Given the description of an element on the screen output the (x, y) to click on. 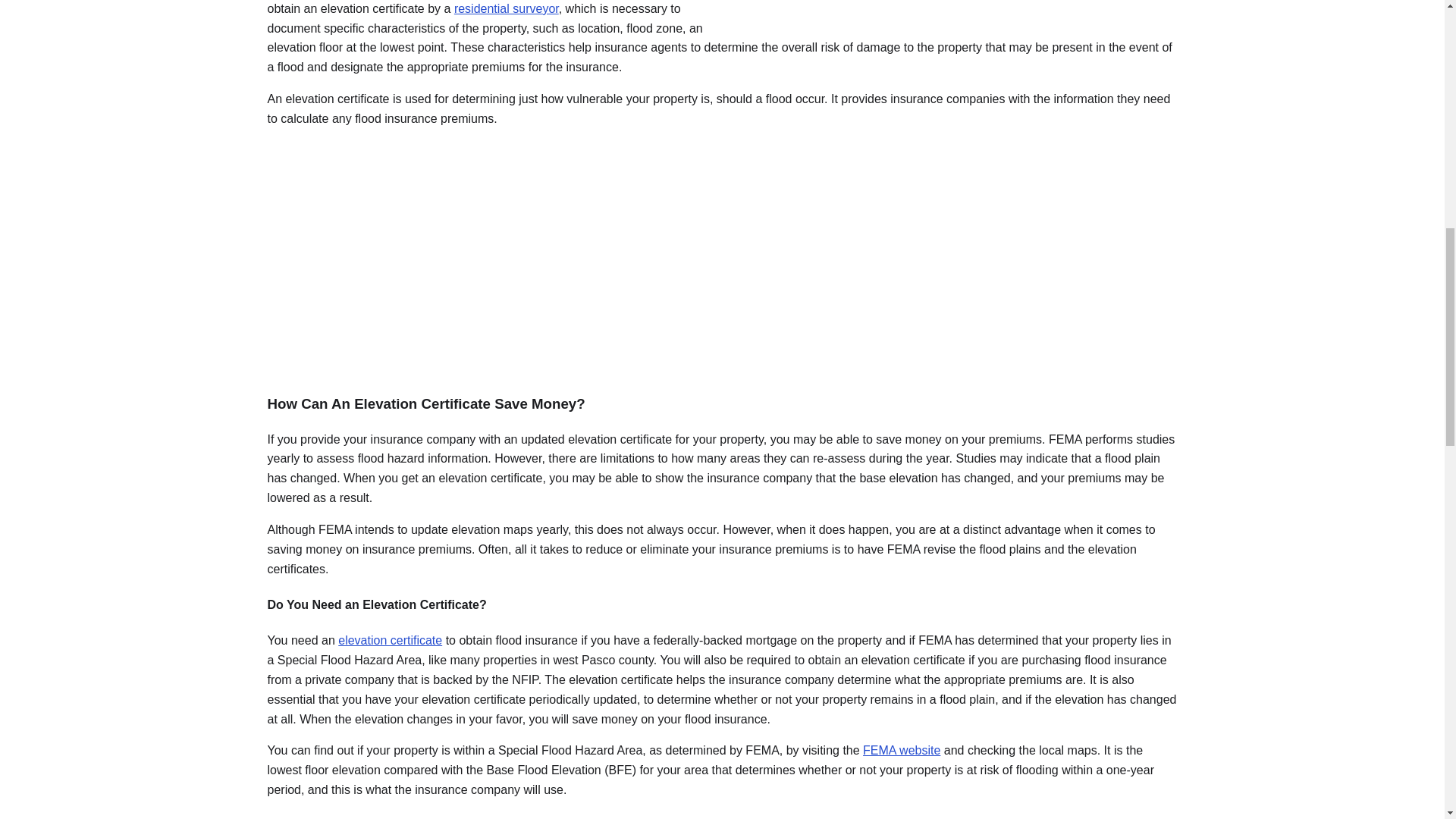
FEMA website (901, 749)
residential surveyor (506, 8)
elevation certificate (389, 640)
